Given the description of an element on the screen output the (x, y) to click on. 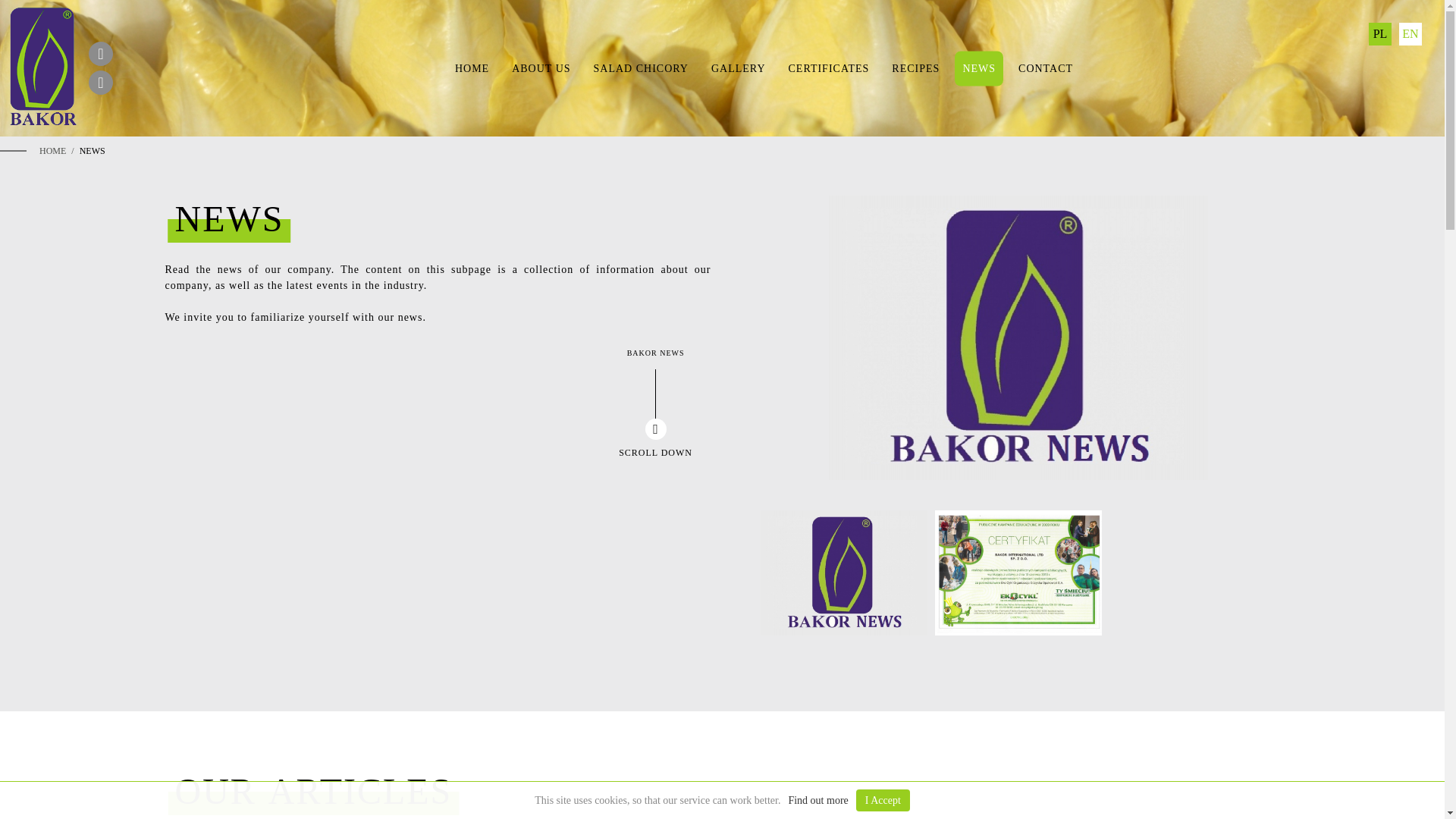
HOME (51, 150)
SALAD CHICORY (640, 68)
RECIPES (915, 68)
CERTIFICATES (828, 68)
ABOUT US (540, 68)
CONTACT (1045, 68)
NEWS (979, 68)
GALLERY (738, 68)
HOME (471, 68)
PL (1379, 33)
EN (1410, 33)
